Given the description of an element on the screen output the (x, y) to click on. 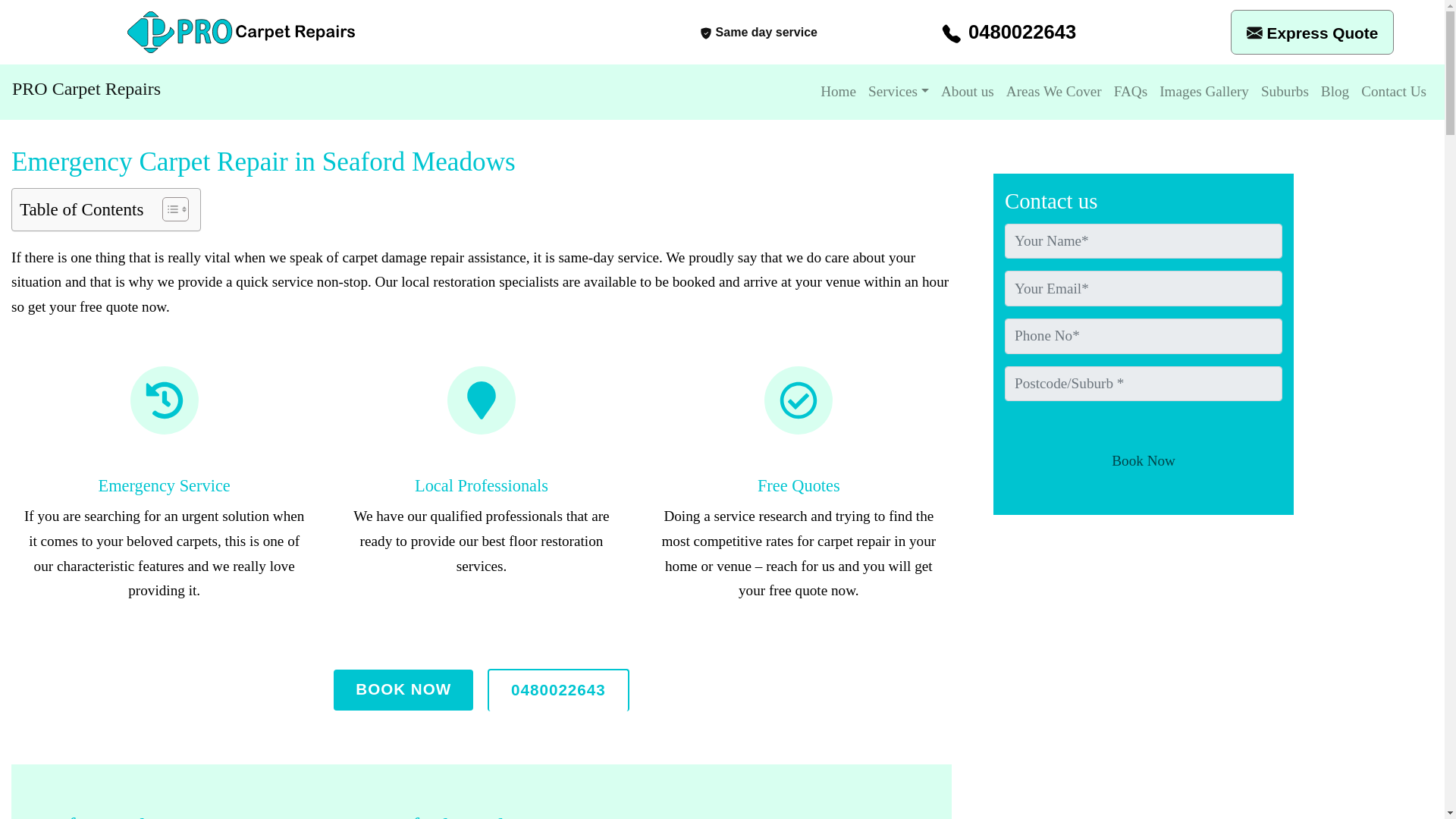
Images Gallery (1204, 91)
Contact Us (1393, 91)
About us (967, 91)
FAQs (1130, 91)
Areas We Cover (1054, 91)
Blog (1334, 91)
Home (837, 91)
Images Gallery (1204, 91)
Home (837, 91)
PRO Carpet Repairs (85, 88)
PRO Carpet Repairs (85, 88)
FAQs (1130, 91)
Areas We Cover (1054, 91)
0480022643 (557, 690)
Suburbs (1284, 91)
